Given the description of an element on the screen output the (x, y) to click on. 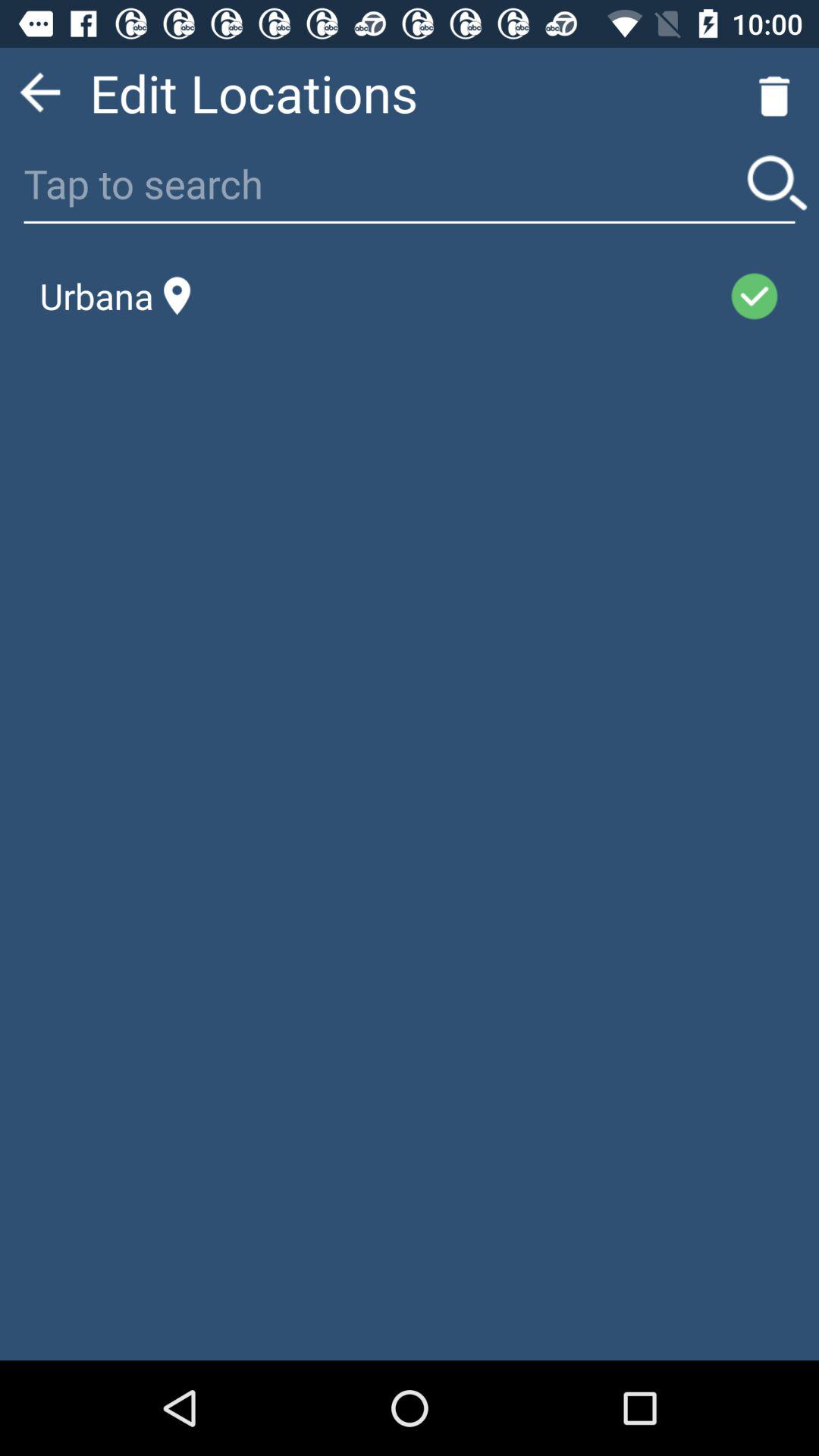
choose icon next to edit locations app (39, 92)
